Given the description of an element on the screen output the (x, y) to click on. 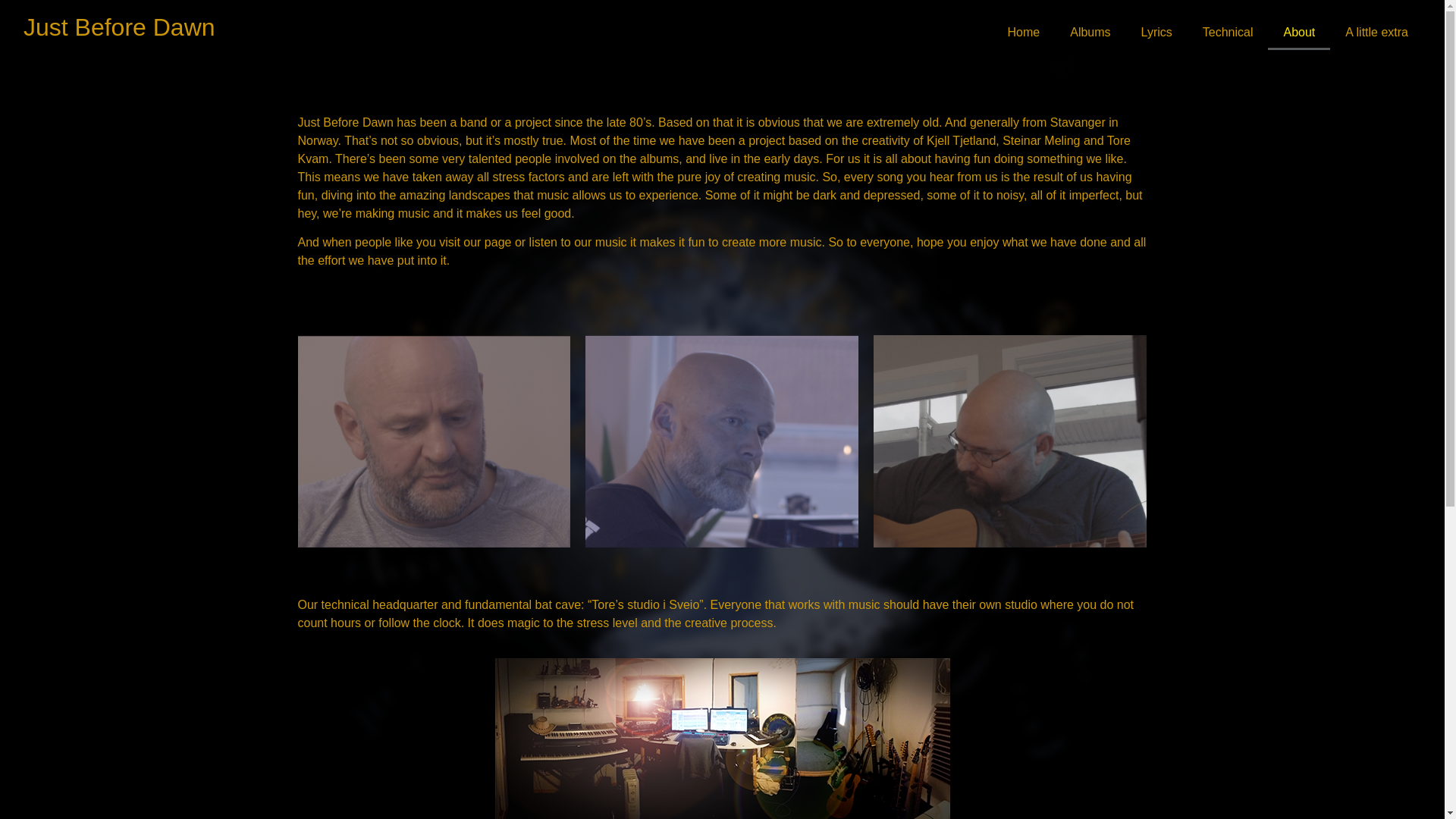
Home (1023, 32)
About (1299, 32)
Just Before Dawn (119, 26)
Technical (1228, 32)
Albums (1089, 32)
Lyrics (1156, 32)
A little extra (1376, 32)
